Given the description of an element on the screen output the (x, y) to click on. 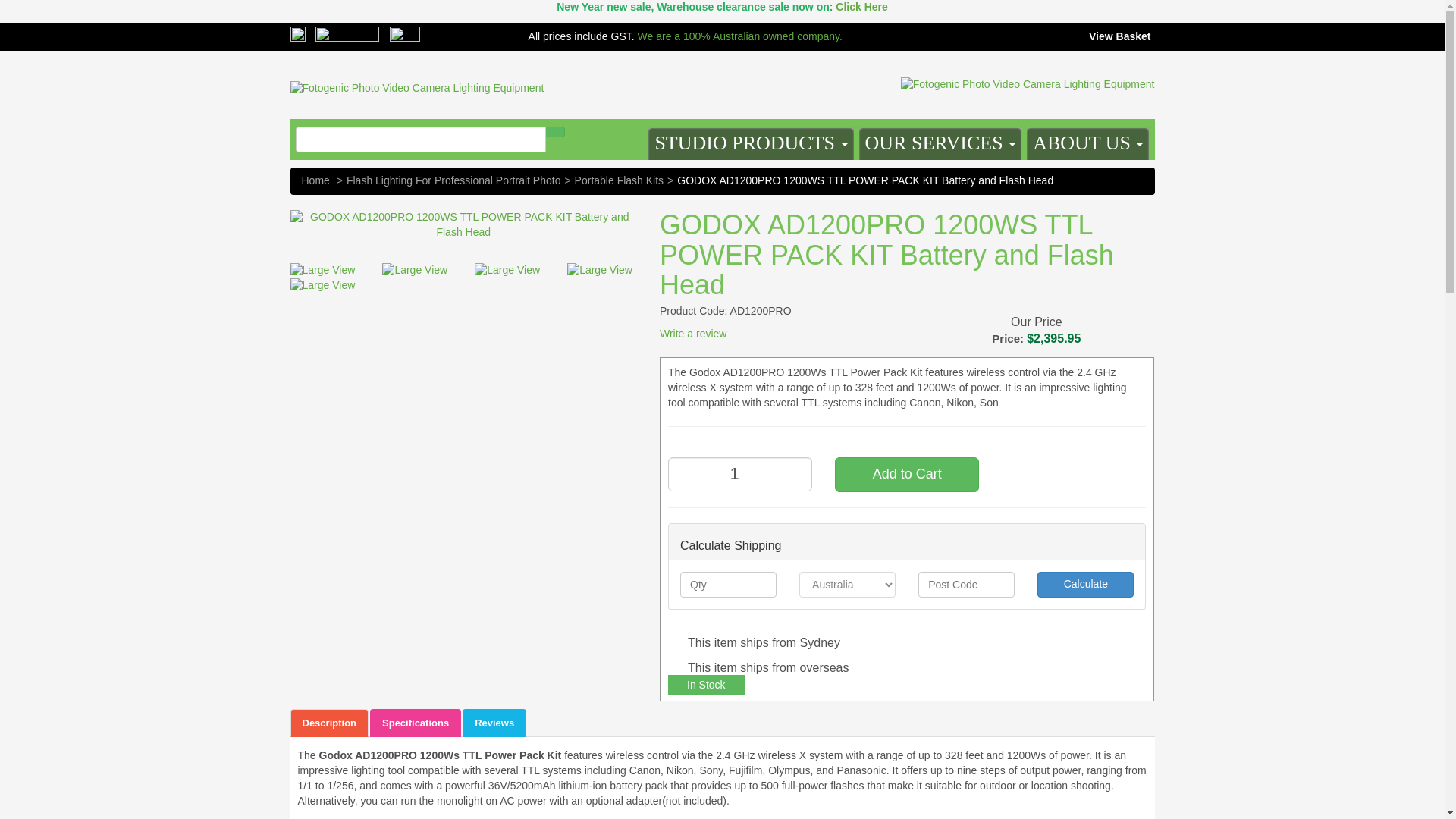
Calculate (1085, 584)
Large View (416, 270)
Fotogenic Photo Video Camera Lighting Equipment (416, 80)
Click Here (860, 6)
View Basket (1117, 36)
Large View (509, 270)
STUDIO PRODUCTS (750, 142)
Search (554, 131)
Add to Cart (906, 474)
Large View (602, 270)
